Given the description of an element on the screen output the (x, y) to click on. 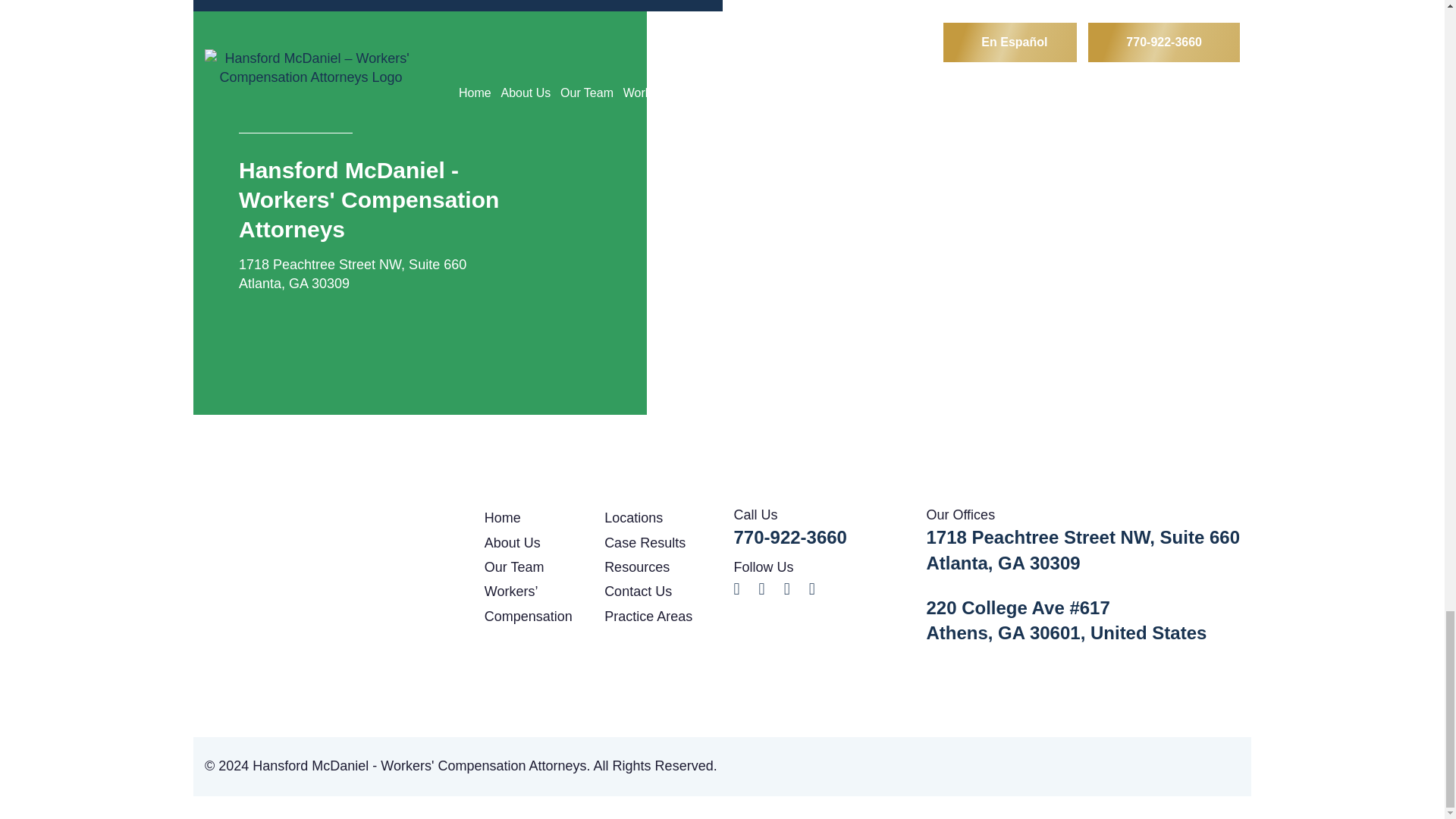
Hansford McDaniel - Workers' Compensation Attorneys (325, 542)
Call Us! (790, 537)
